Given the description of an element on the screen output the (x, y) to click on. 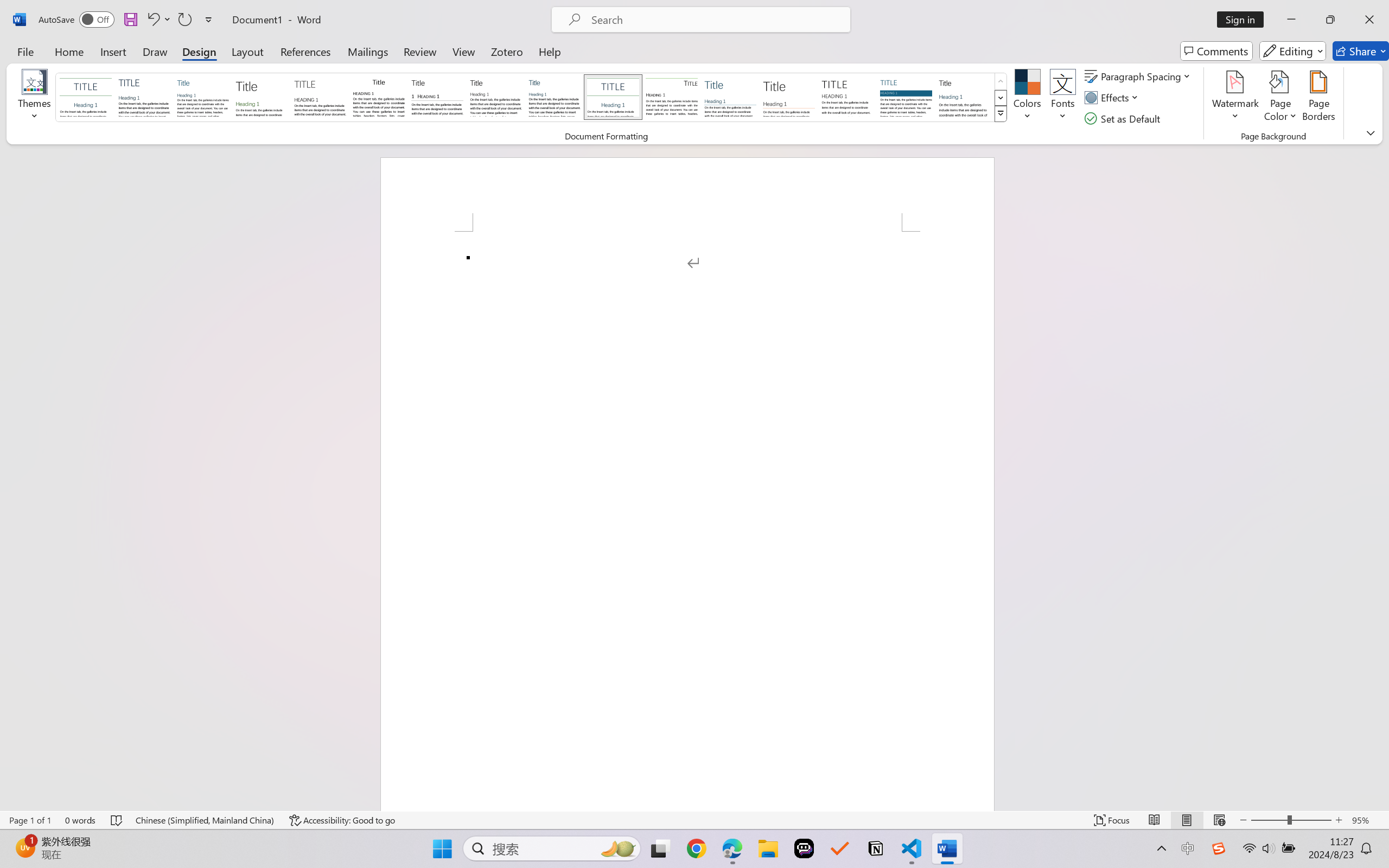
Black & White (Numbered) (437, 96)
AutomationID: QuickStylesSets (531, 97)
Basic (Stylish) (260, 96)
Sign in (1244, 19)
Page Borders... (1318, 97)
Editing (1292, 50)
Set as Default (1124, 118)
Repeat Style (184, 19)
